Given the description of an element on the screen output the (x, y) to click on. 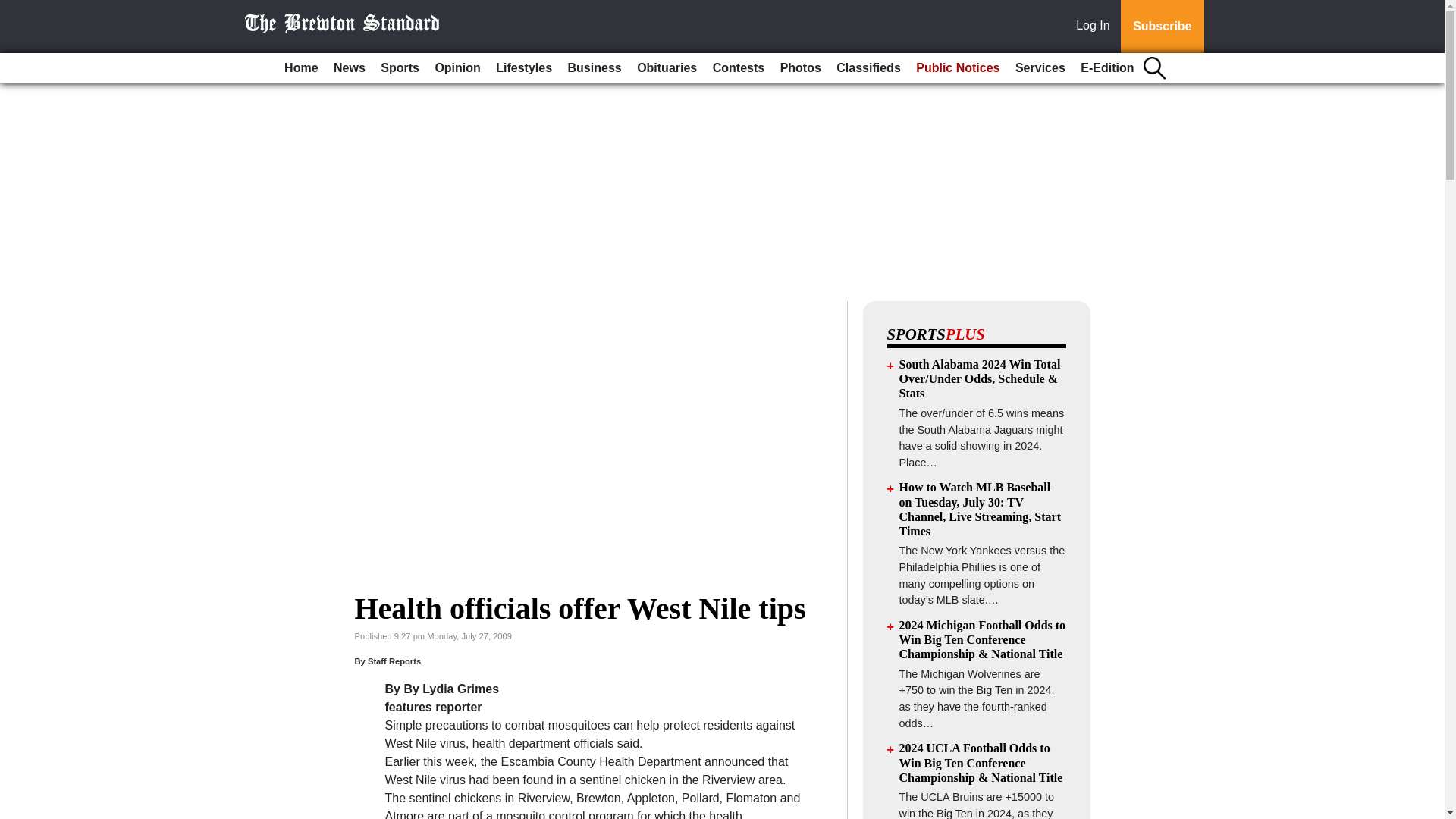
Contests (738, 68)
Classifieds (867, 68)
Staff Reports (394, 660)
Photos (800, 68)
Log In (1095, 26)
News (349, 68)
Opinion (457, 68)
Home (300, 68)
Services (1040, 68)
Public Notices (958, 68)
Sports (399, 68)
Go (13, 9)
Lifestyles (523, 68)
E-Edition (1107, 68)
Business (594, 68)
